Given the description of an element on the screen output the (x, y) to click on. 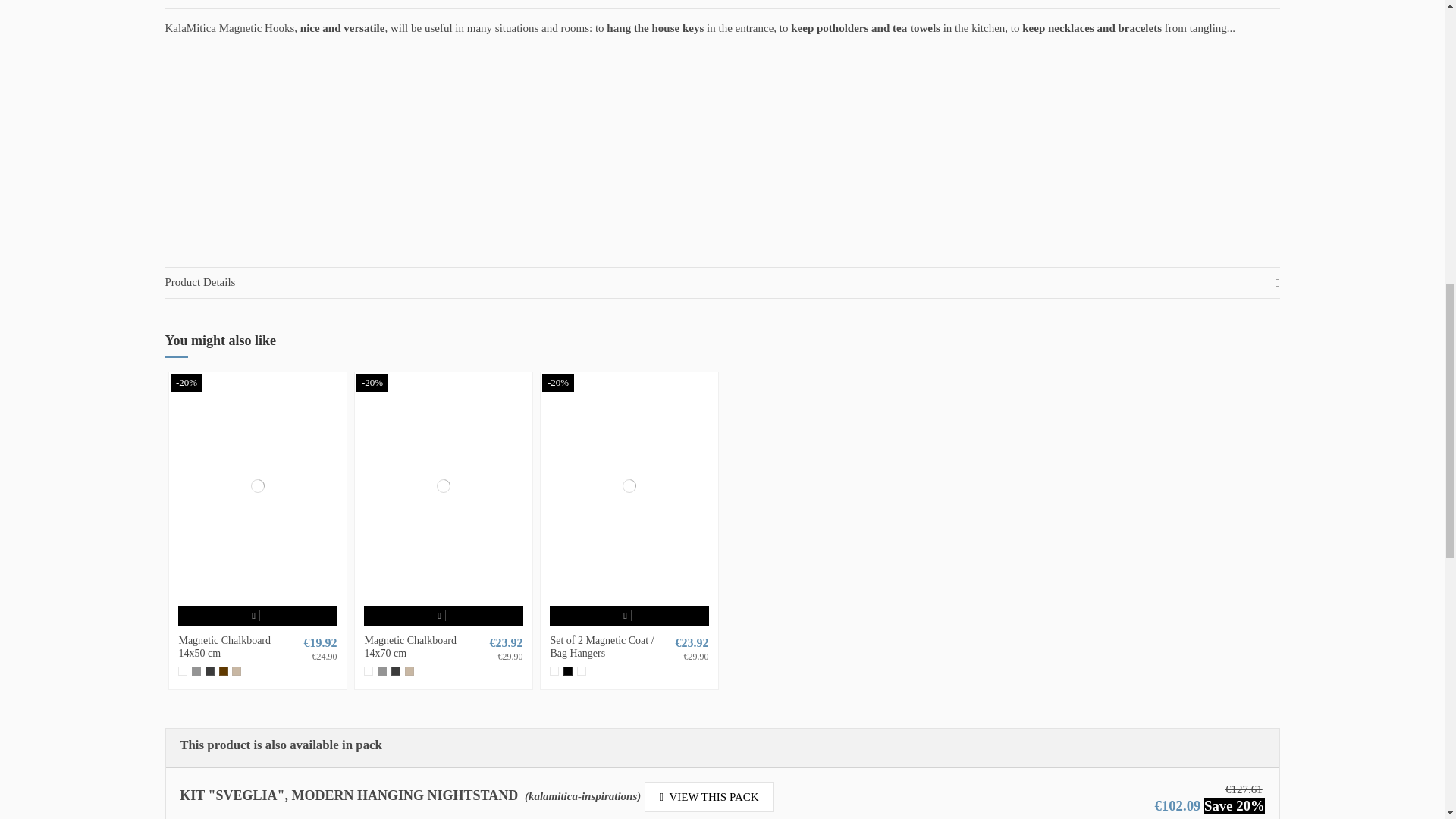
FINE-TEXTURE WHITE (182, 670)
